Given the description of an element on the screen output the (x, y) to click on. 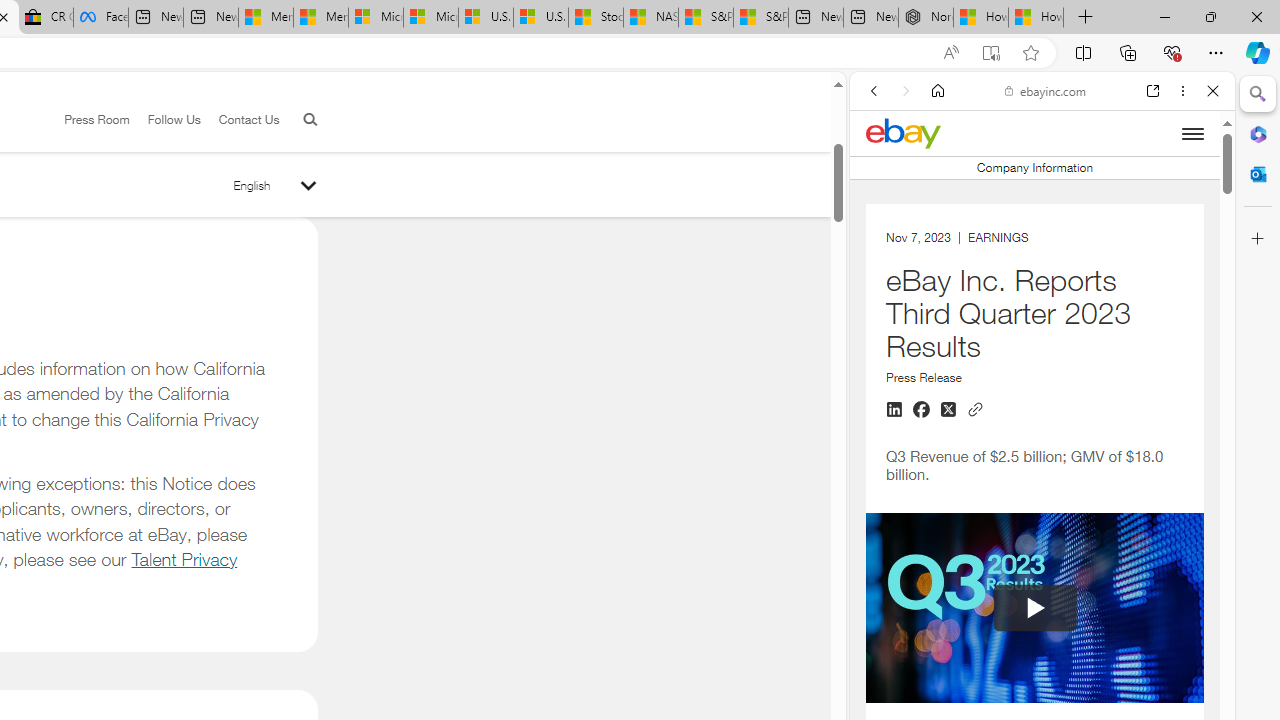
Copy link to clipboard (975, 407)
Share on Facebook (921, 410)
Share on LinkedIn (893, 410)
Customize (1258, 239)
AutomationID: Group_1_1_ (1034, 607)
Enter Immersive Reader (F9) (991, 53)
